Given the description of an element on the screen output the (x, y) to click on. 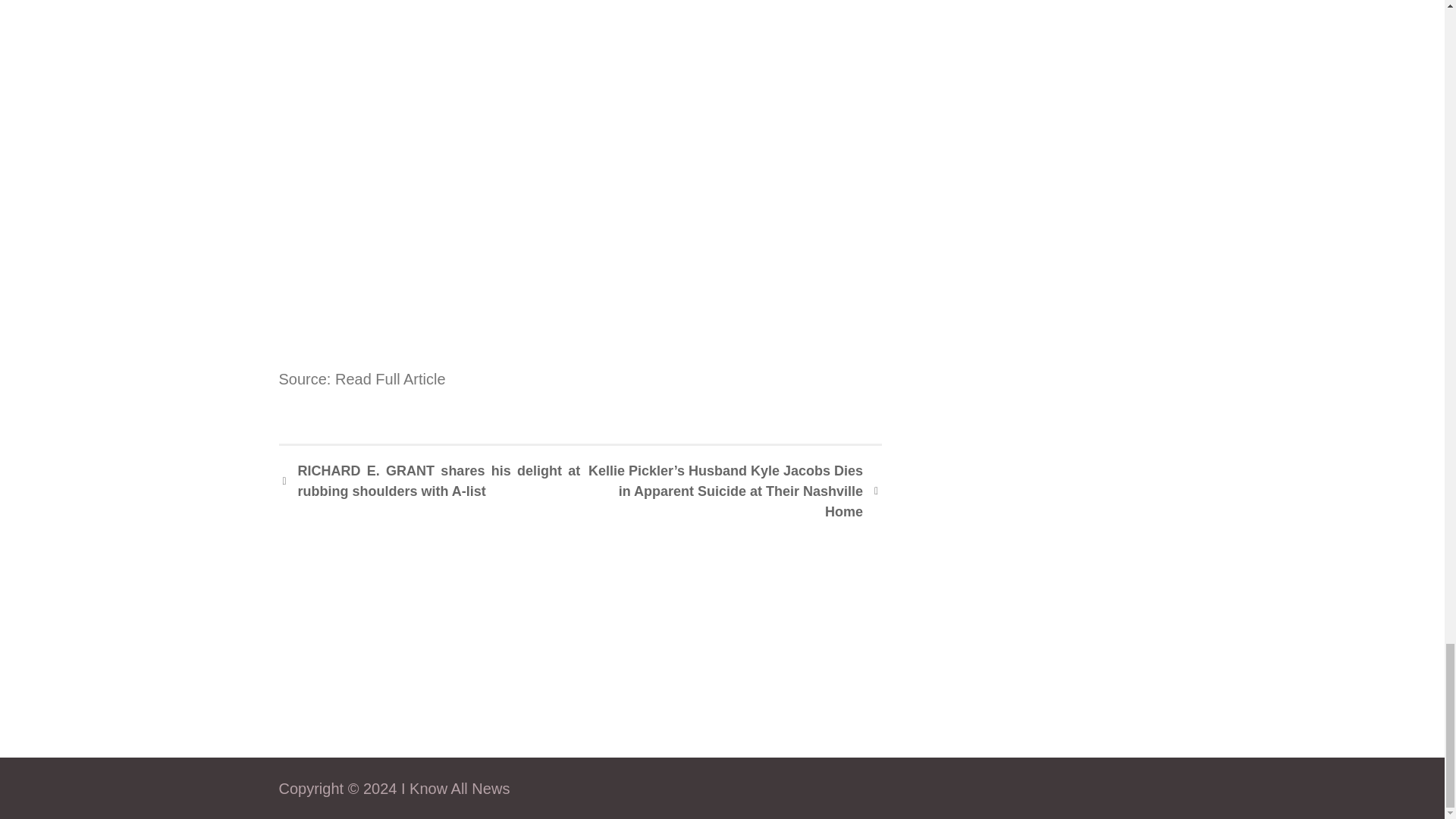
Read Full Article (389, 379)
